Given the description of an element on the screen output the (x, y) to click on. 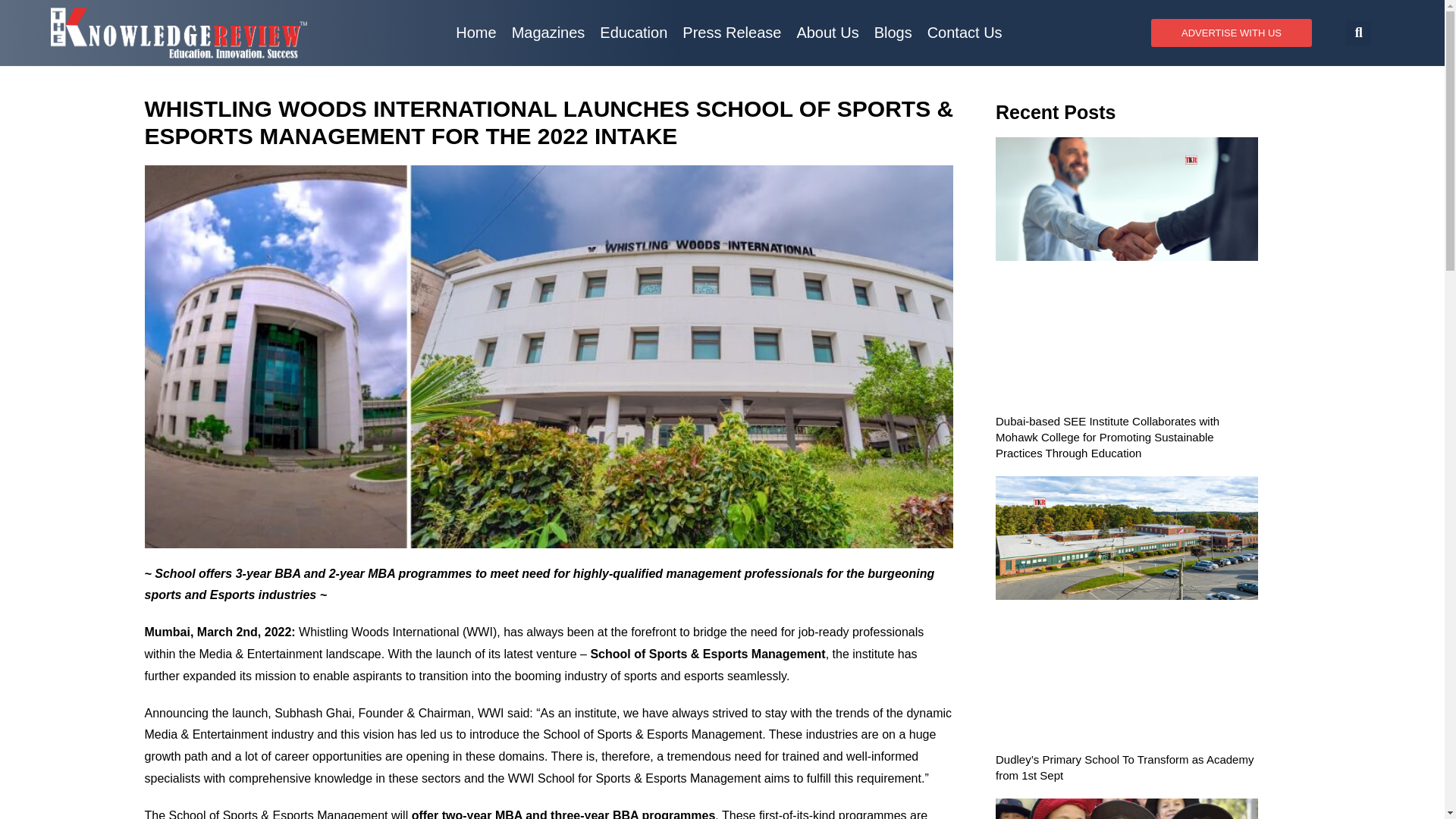
ADVERTISE WITH US (1232, 32)
Magazines (547, 32)
About Us (827, 32)
Blogs (893, 32)
Contact Us (965, 32)
Home (475, 32)
Press Release (732, 32)
Education (633, 32)
